Given the description of an element on the screen output the (x, y) to click on. 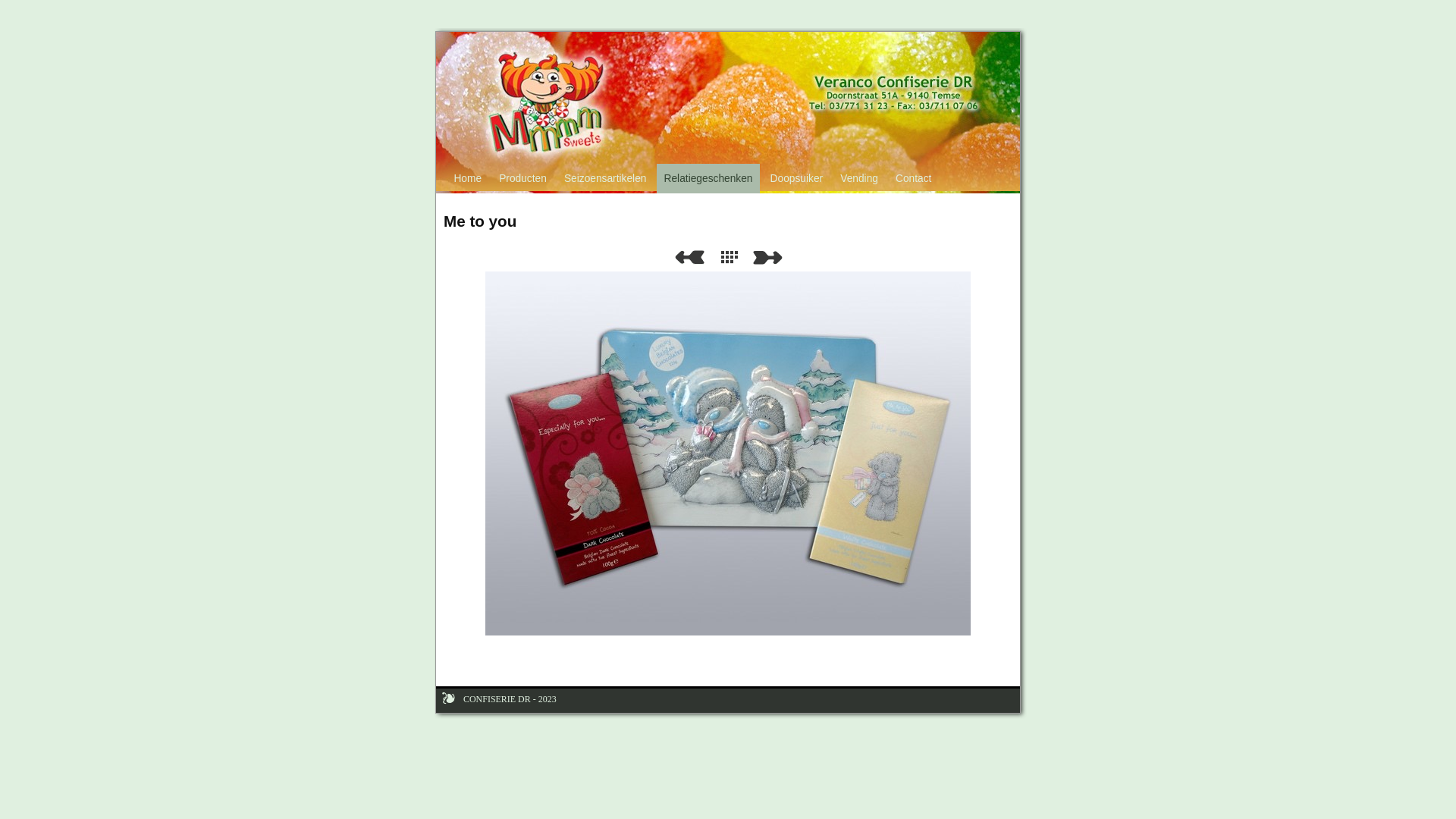
Previous Element type: text (688, 257)
Home Element type: text (467, 178)
Relatiegeschenken Element type: text (707, 178)
Next Element type: text (770, 257)
Contact Element type: text (913, 178)
Vending Element type: text (859, 178)
Producten Element type: text (523, 178)
Seizoensartikelen Element type: text (604, 178)
Doopsuiker Element type: text (796, 178)
List Element type: text (732, 257)
